Given the description of an element on the screen output the (x, y) to click on. 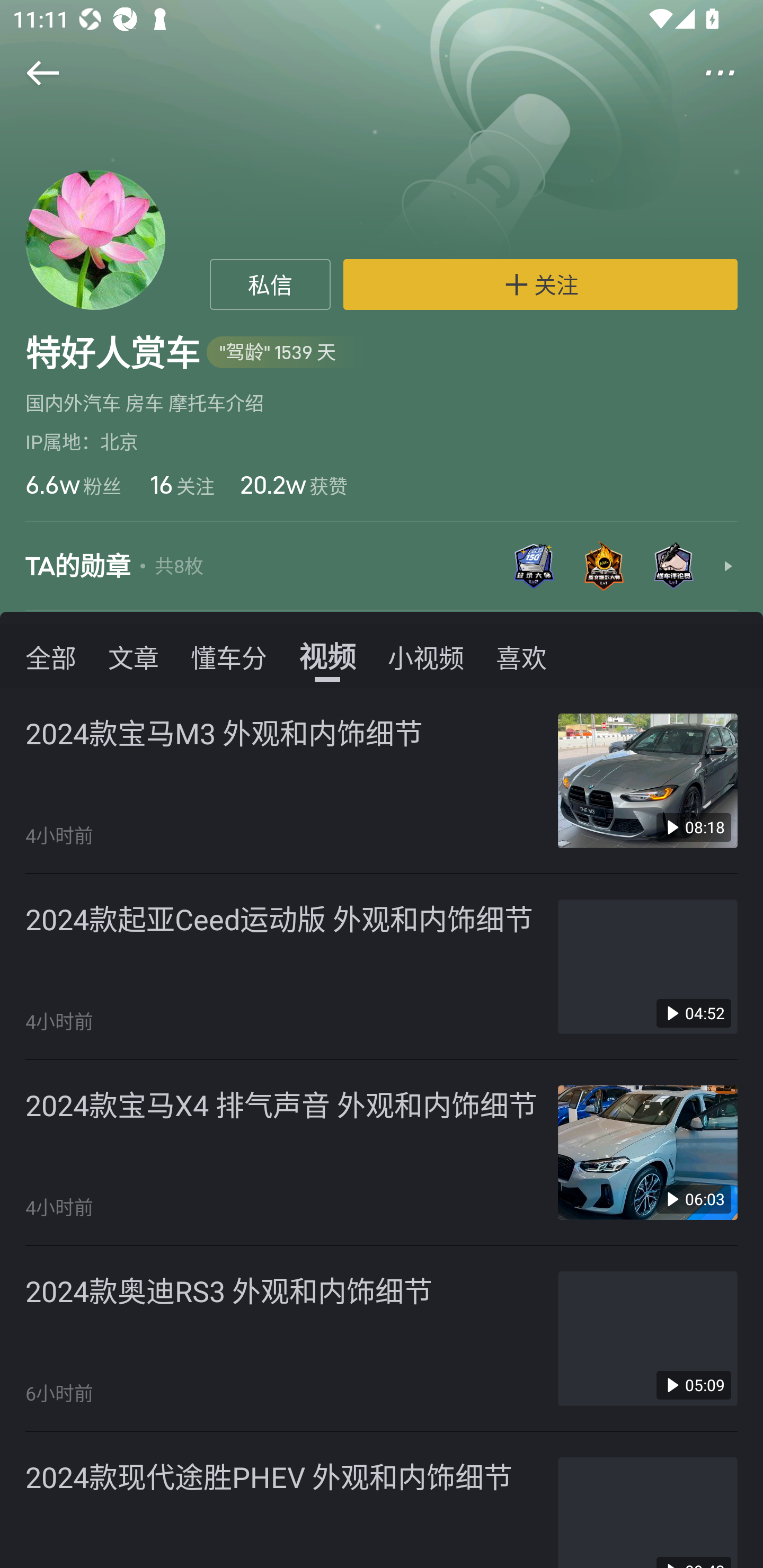
 (30, 72)
 (732, 72)
私信 (269, 284)
 关注 (540, 284)
"驾龄" 1539 天 (286, 352)
6.6w 粉丝 (73, 484)
16 关注 (180, 484)
20.2w 获赞 (293, 484)
TA的勋章 共8枚  (381, 566)
全部 (50, 656)
文章 (133, 656)
懂车分 (228, 656)
视频 (327, 656)
小视频 (425, 656)
喜欢 (521, 656)
2024款宝马M3 外观和内饰细节 4小时前  08:18 (381, 780)
2024款起亚Ceed运动版 外观和内饰细节 4小时前  04:52 (381, 966)
2024款宝马X4 排气声音 外观和内饰细节 4小时前  06:03 (381, 1152)
2024款奥迪RS3 外观和内饰细节 6小时前  05:09 (381, 1338)
2024款现代途胜PHEV 外观和内饰细节 6小时前  09:43 (381, 1499)
